Given the description of an element on the screen output the (x, y) to click on. 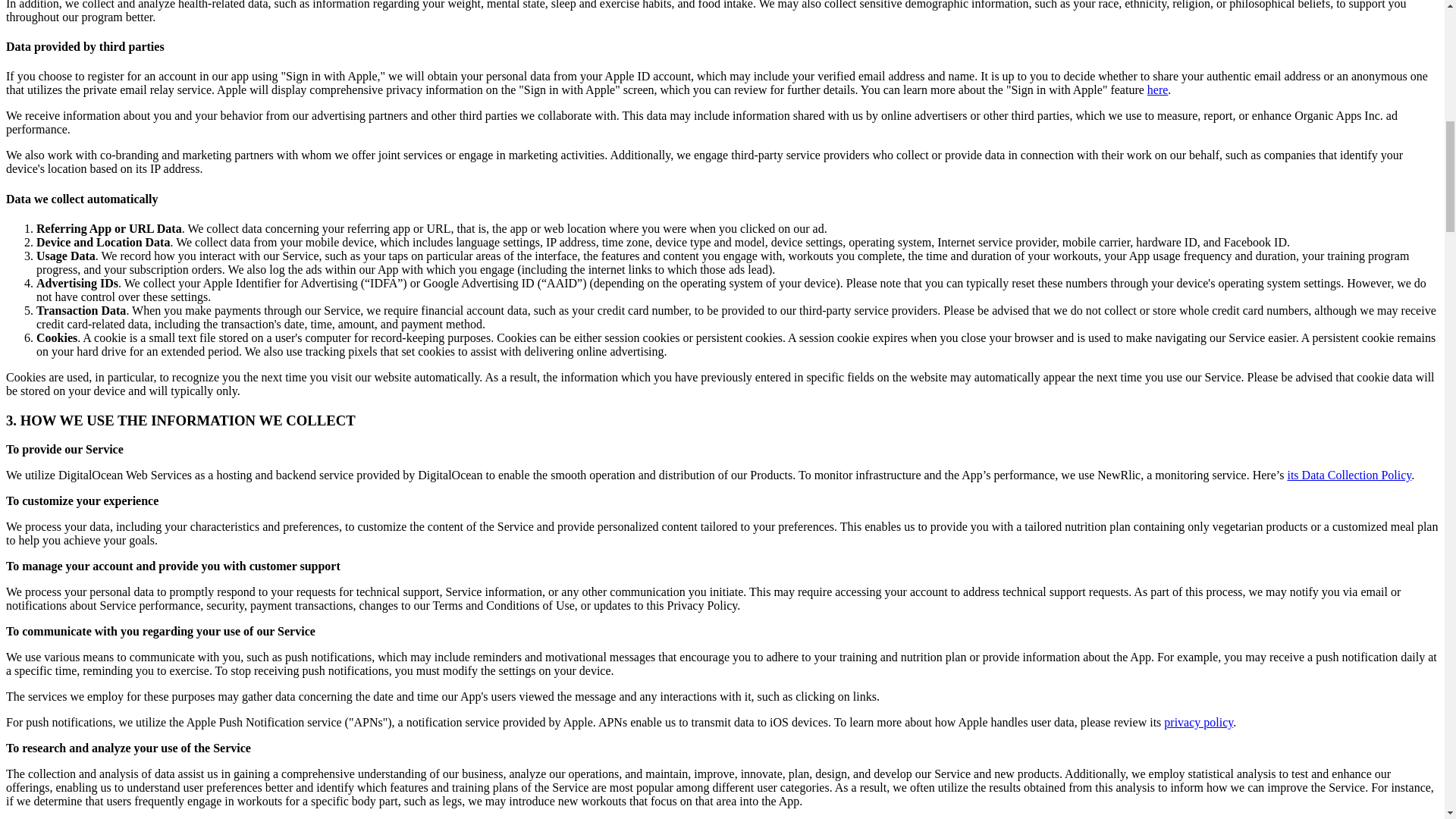
its Data Collection Policy (1348, 474)
here (1158, 89)
privacy policy (1198, 721)
